Given the description of an element on the screen output the (x, y) to click on. 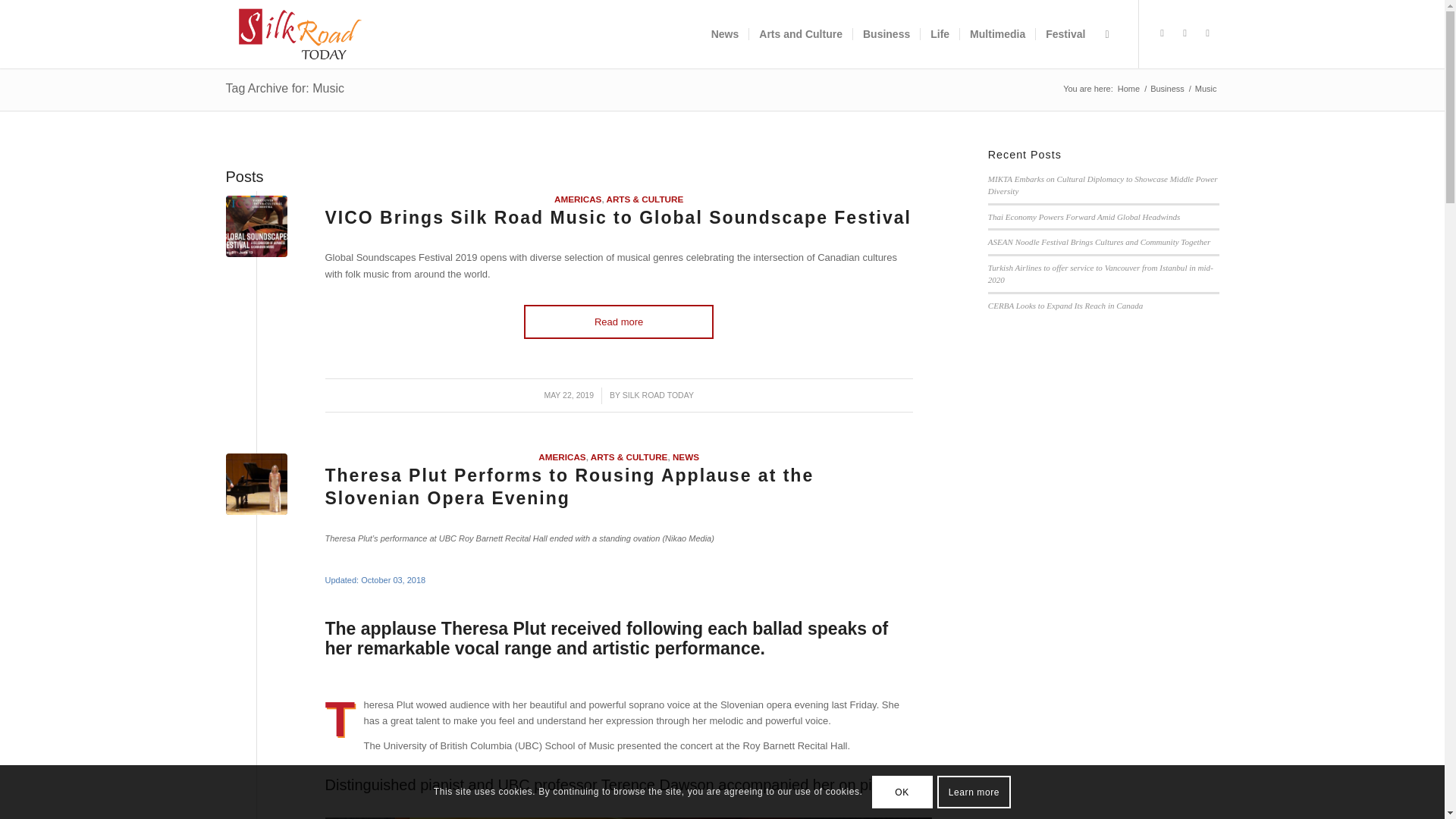
Tag Archive for: Music (285, 88)
SILK ROAD TODAY (658, 394)
AMERICAS (577, 198)
Permanent Link: Tag Archive for: Music (285, 88)
Arts and Culture (799, 33)
Multimedia (997, 33)
Home (1128, 89)
Silk Road Today (1128, 89)
